Given the description of an element on the screen output the (x, y) to click on. 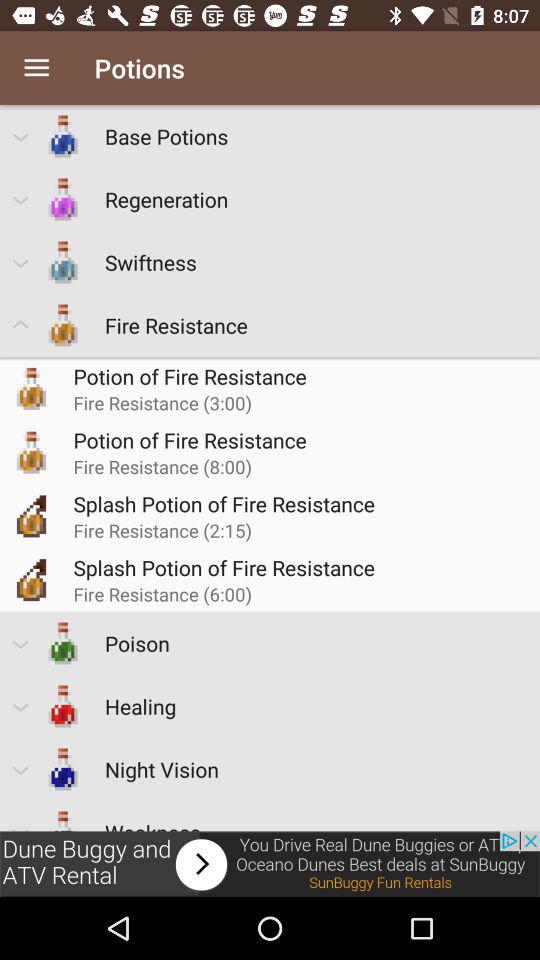
go to advertisement (270, 864)
